Given the description of an element on the screen output the (x, y) to click on. 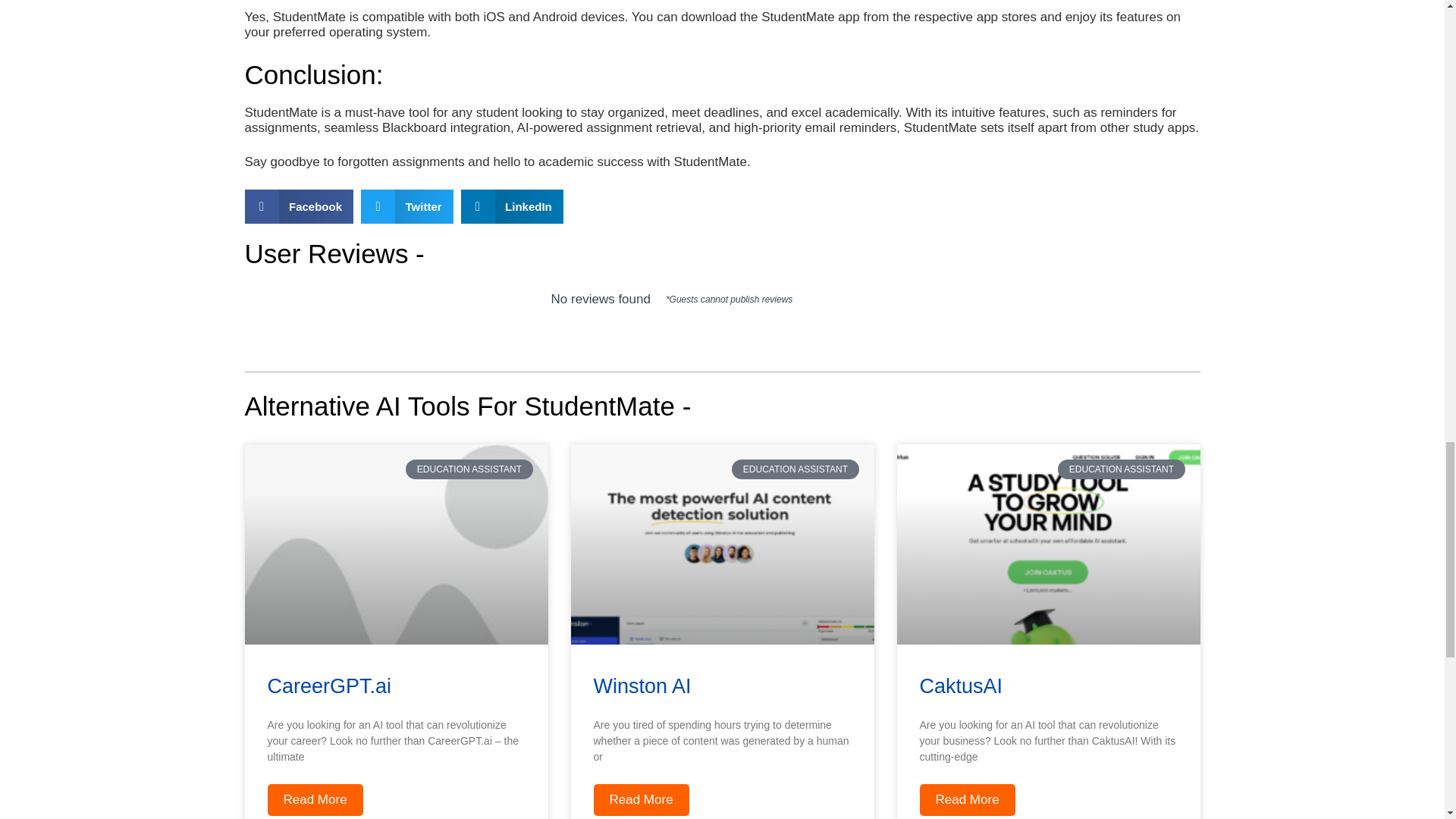
Read More (966, 799)
CareerGPT.ai (328, 685)
Read More (314, 799)
Read More (640, 799)
CaktusAI (960, 685)
Winston AI (641, 685)
